Given the description of an element on the screen output the (x, y) to click on. 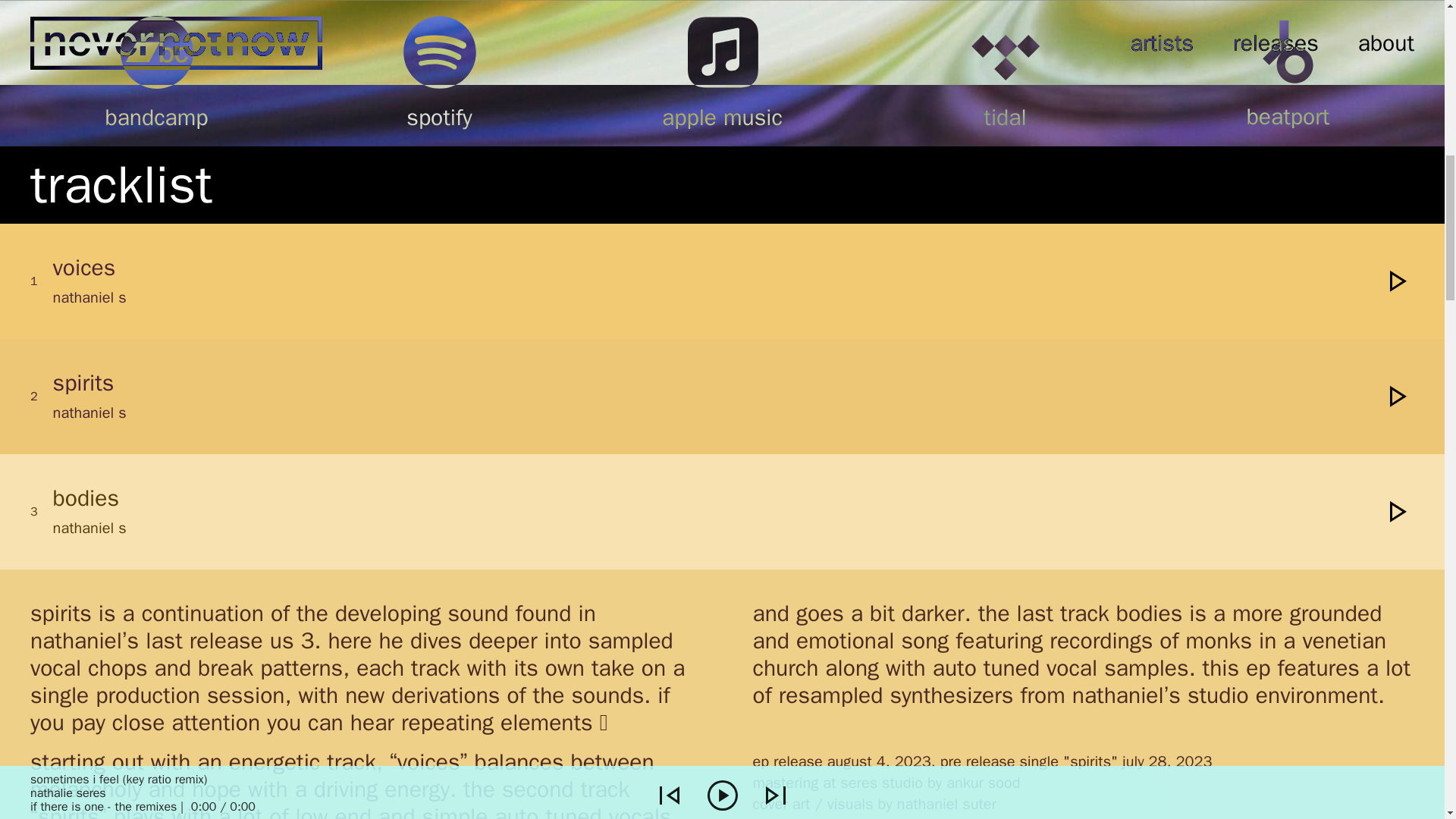
spotify (439, 87)
tidal (1005, 87)
apple music (721, 87)
beatport (1288, 87)
bandcamp (156, 87)
